Given the description of an element on the screen output the (x, y) to click on. 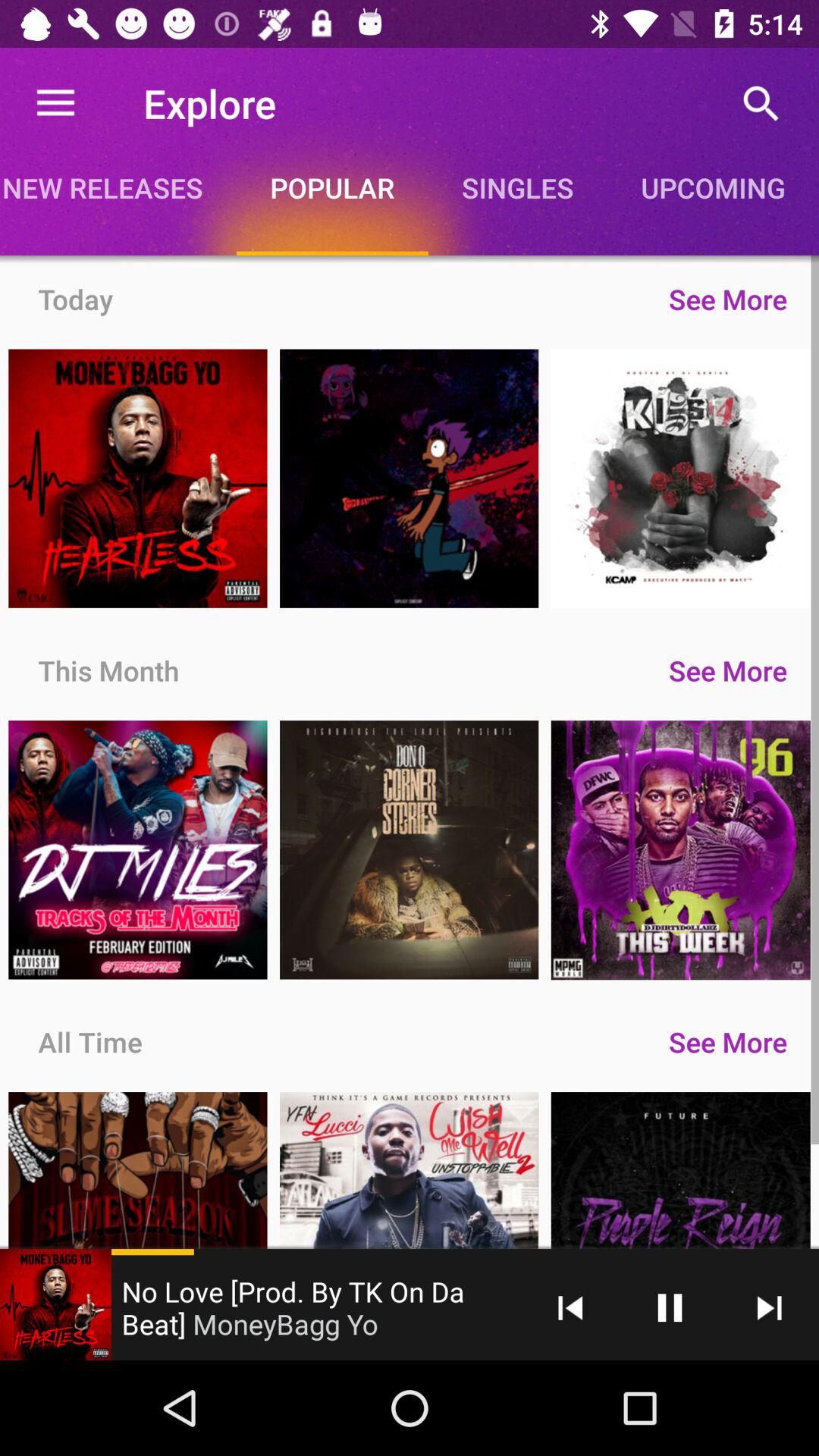
select the icon above see more icon (713, 187)
